Given the description of an element on the screen output the (x, y) to click on. 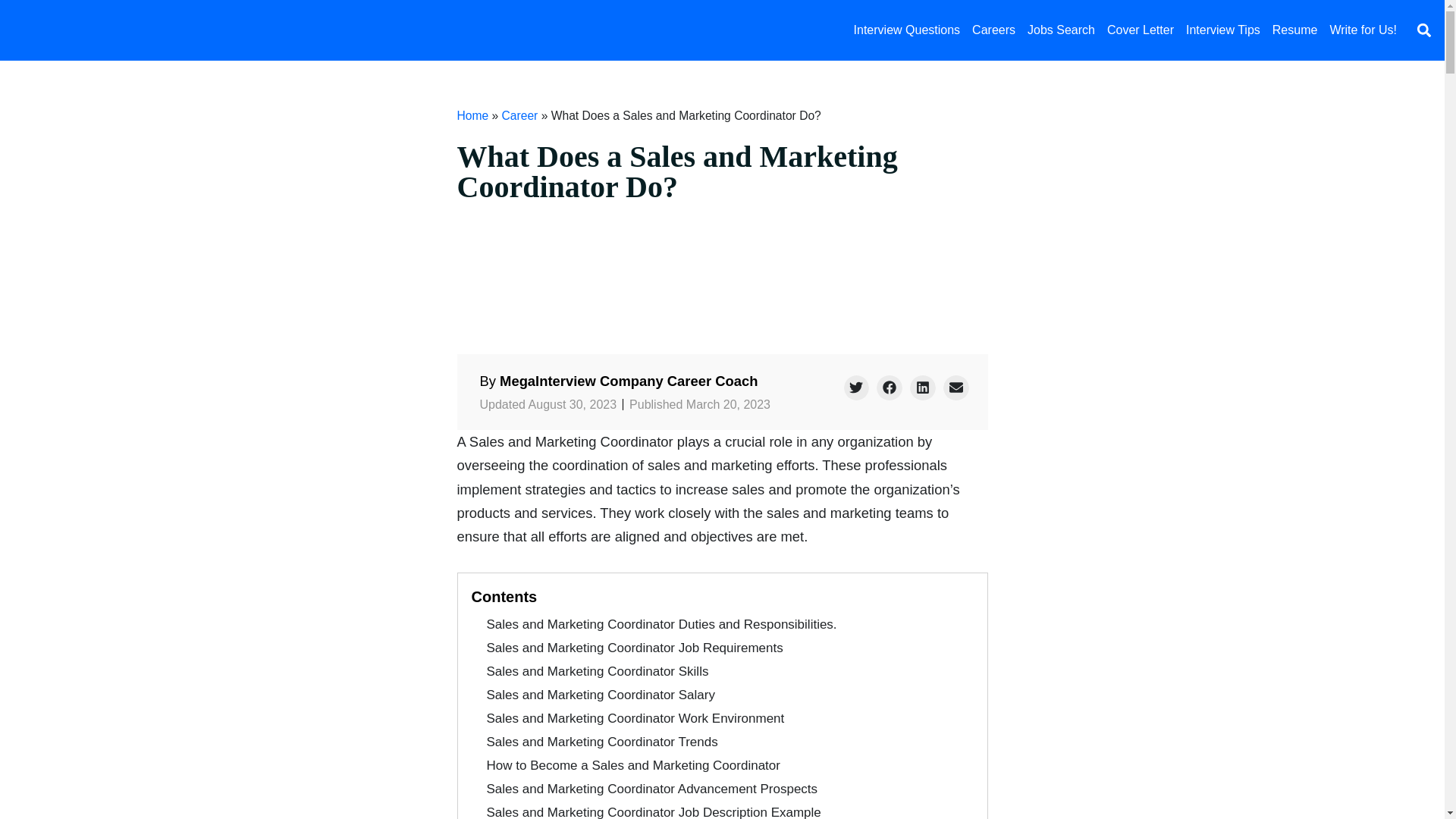
Cover Letter (1139, 30)
Interview Questions (906, 30)
Jobs Search (1060, 30)
Careers (993, 30)
megainterview-logo-svg (101, 30)
